Given the description of an element on the screen output the (x, y) to click on. 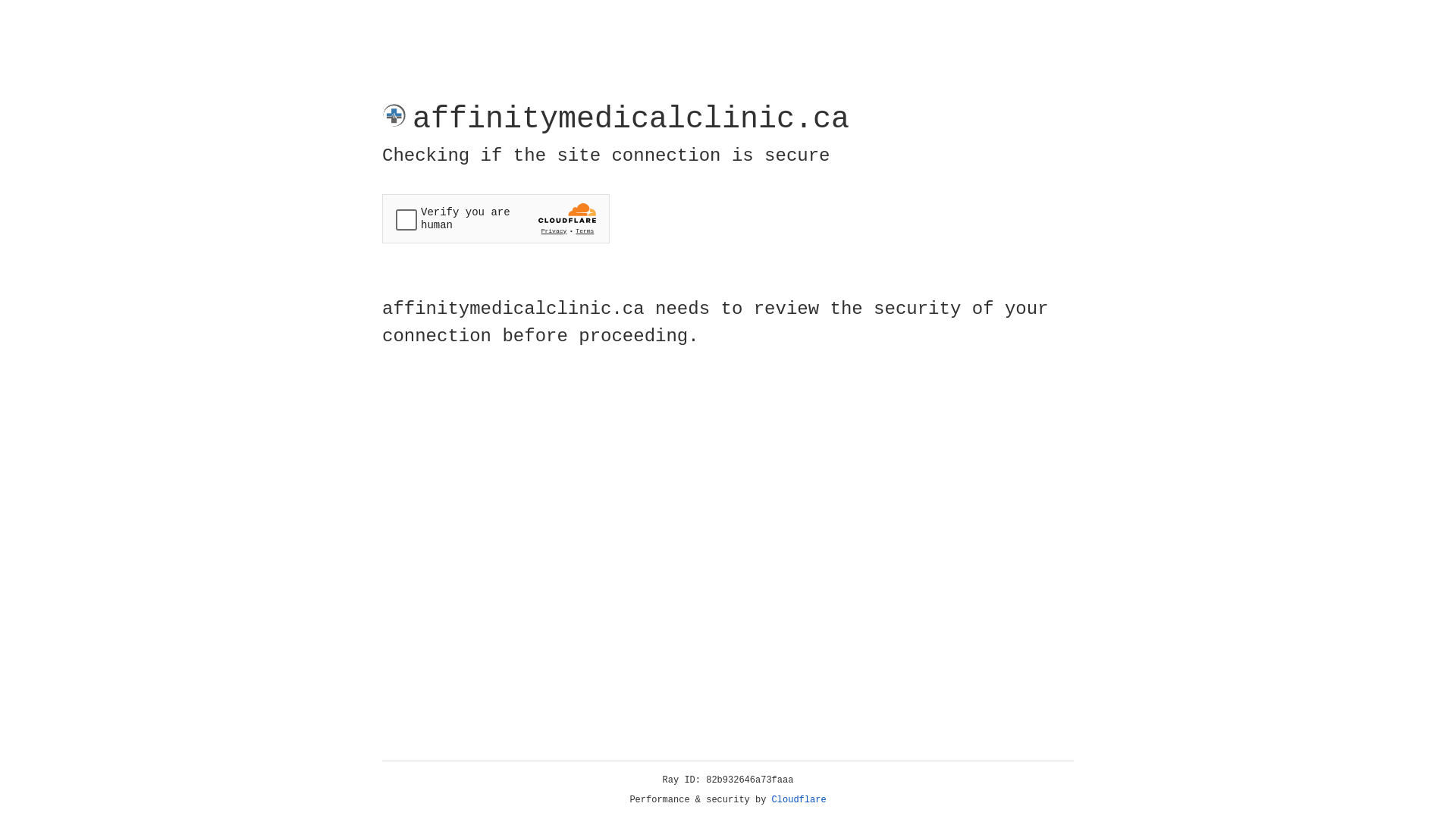
Cloudflare Element type: text (798, 799)
Widget containing a Cloudflare security challenge Element type: hover (495, 218)
